Given the description of an element on the screen output the (x, y) to click on. 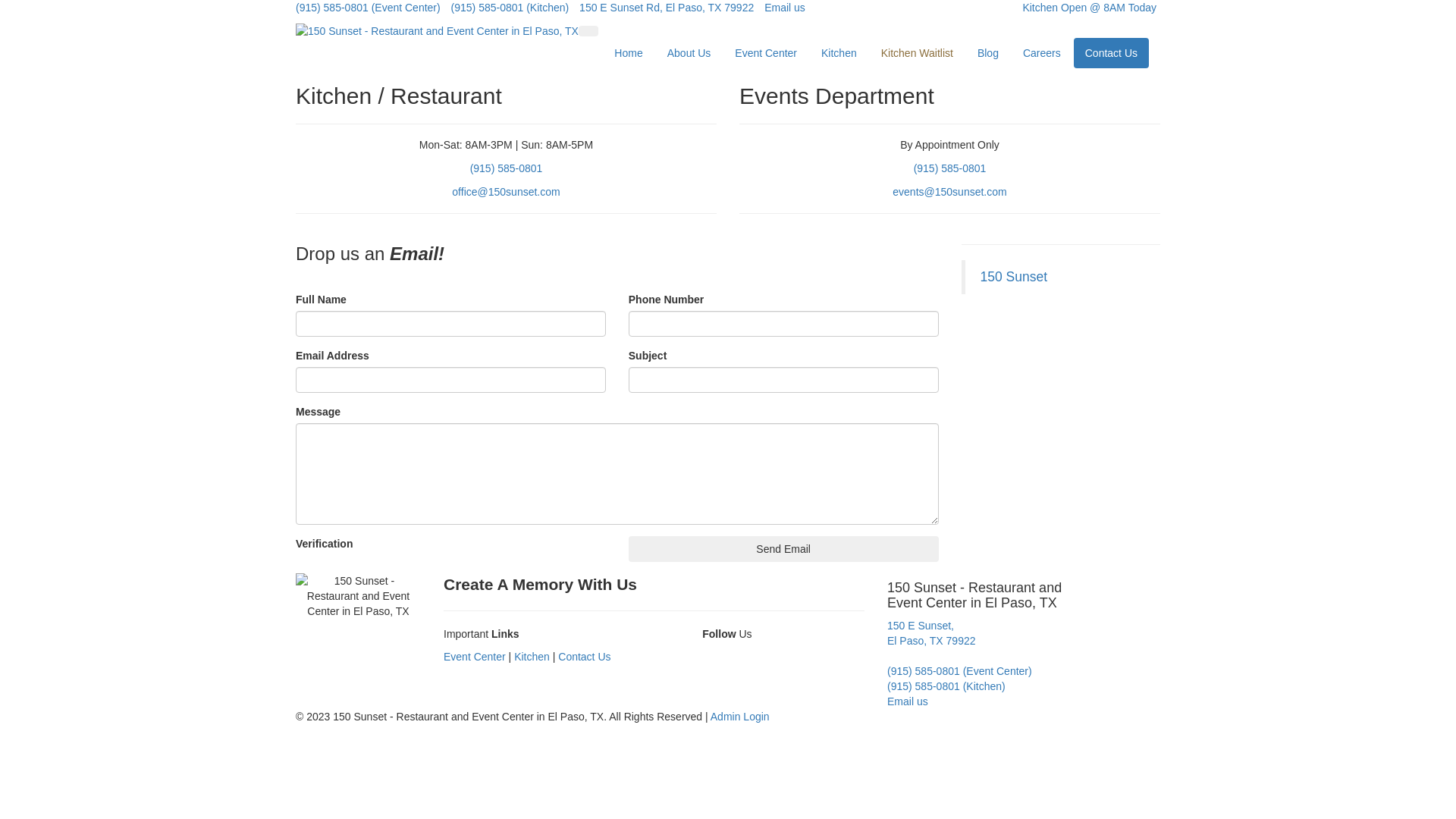
Send Email Element type: text (783, 548)
(915) 585-0801 (Kitchen) Element type: text (510, 7)
Kitchen Element type: text (531, 656)
events@150sunset.com Element type: text (949, 191)
office@150sunset.com Element type: text (505, 191)
Event Center Element type: text (765, 52)
150 E Sunset Rd, El Paso, TX 79922 Element type: text (666, 7)
(915) 585-0801 (Kitchen) Element type: text (946, 686)
Contact Us Element type: text (584, 656)
(915) 585-0801 (Event Center) Element type: text (367, 7)
Kitchen Element type: text (838, 52)
Kitchen Waitlist Element type: text (916, 52)
150 E Sunset,
El Paso, TX 79922 Element type: text (931, 632)
    Kitchen Open @ 8AM Today Element type: text (1083, 7)
Admin Login Element type: text (739, 716)
(915) 585-0801 (Event Center) Element type: text (959, 671)
Email us Element type: text (784, 7)
Email us Element type: text (907, 701)
(915) 585-0801 Element type: text (949, 168)
150 Sunset Element type: text (1013, 276)
About Us Element type: text (688, 52)
Careers Element type: text (1041, 52)
Contact Us Element type: text (1110, 52)
Home Element type: text (627, 52)
Event Center Element type: text (474, 656)
(915) 585-0801 Element type: text (506, 168)
Blog Element type: text (988, 52)
